Given the description of an element on the screen output the (x, y) to click on. 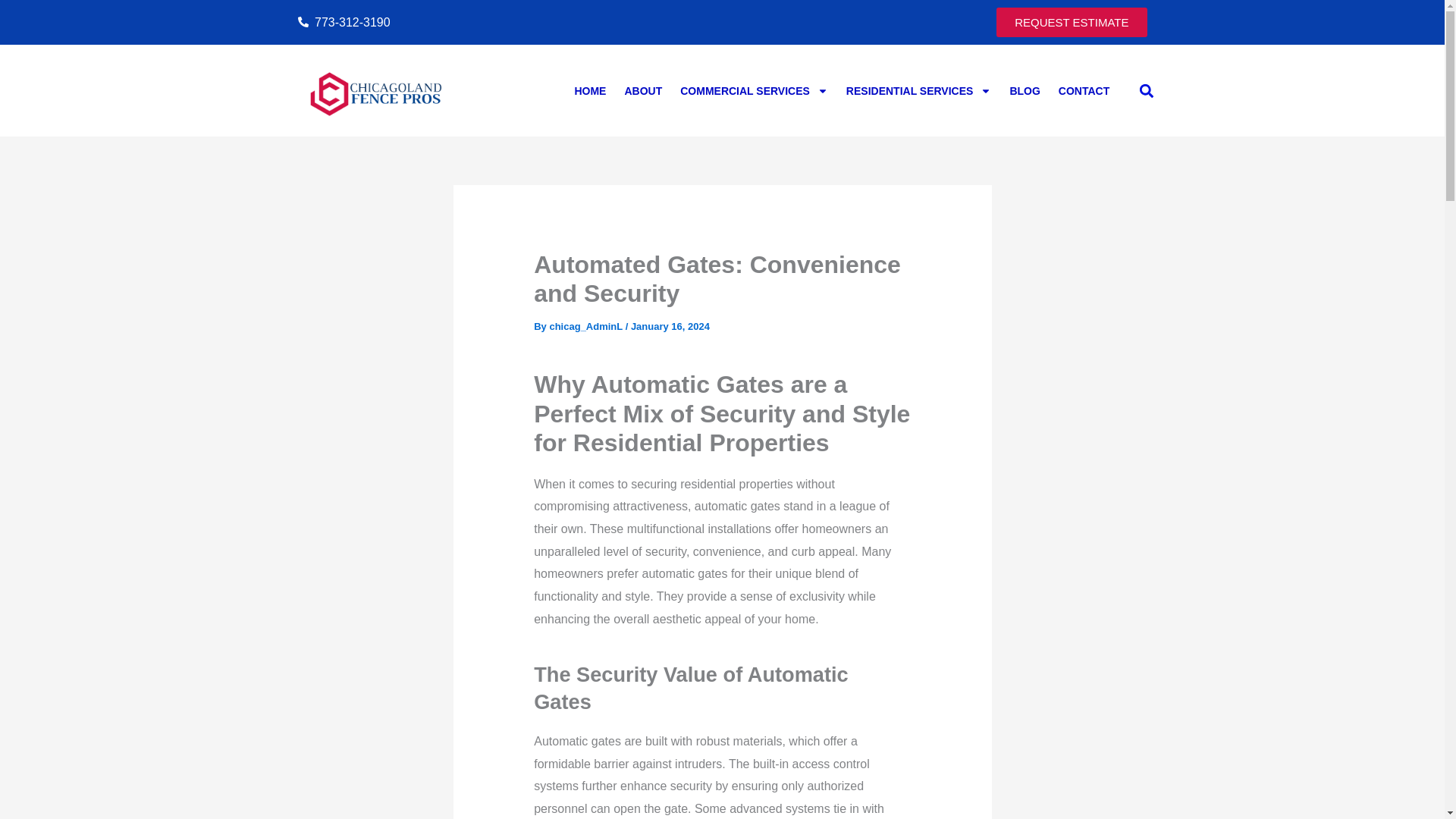
BLOG (1024, 90)
773-312-3190 (505, 22)
HOME (589, 90)
REQUEST ESTIMATE (1071, 21)
COMMERCIAL SERVICES (754, 90)
RESIDENTIAL SERVICES (919, 90)
CONTACT (1083, 90)
ABOUT (642, 90)
